Given the description of an element on the screen output the (x, y) to click on. 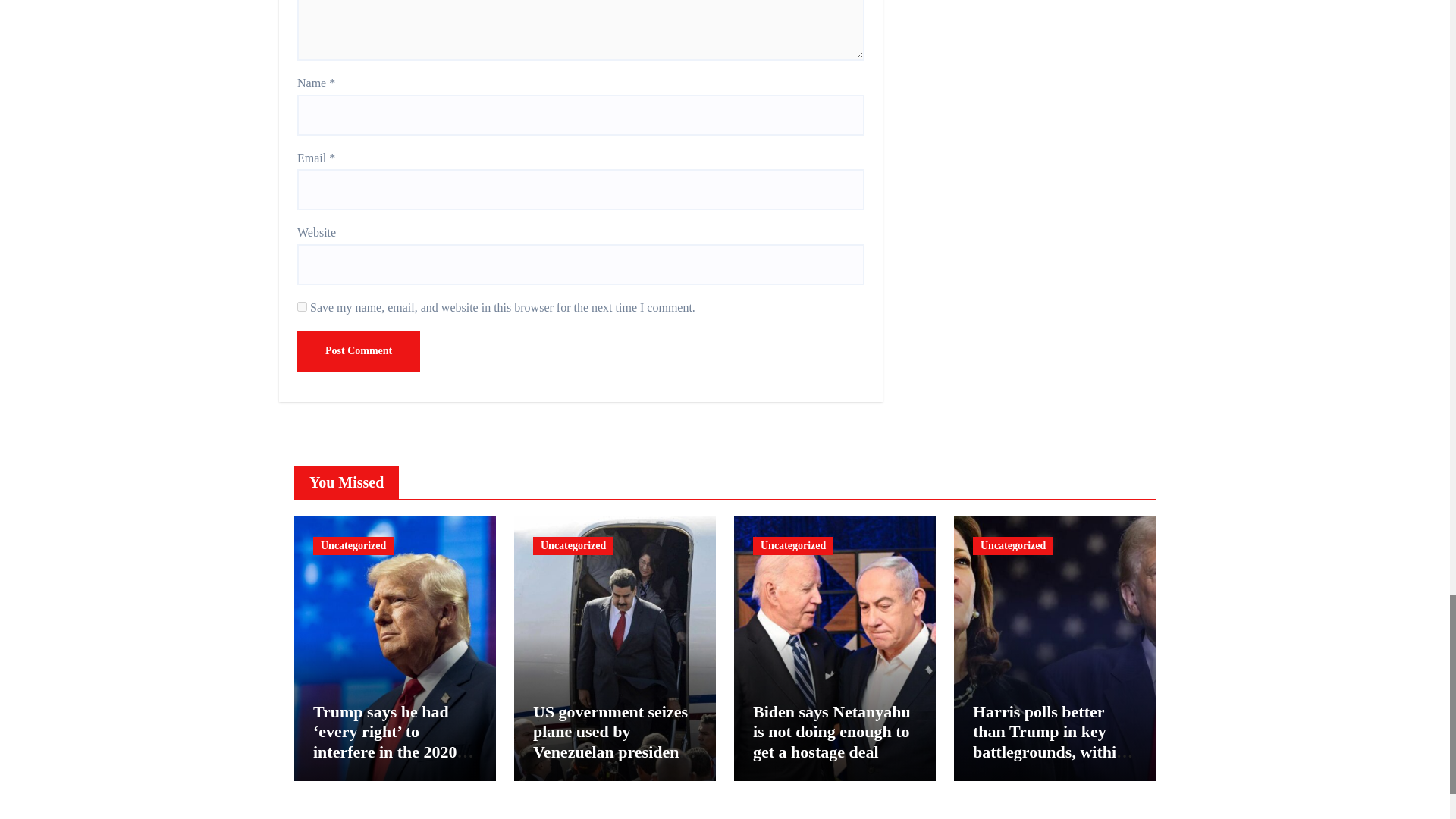
yes (302, 307)
Post Comment (358, 350)
